Given the description of an element on the screen output the (x, y) to click on. 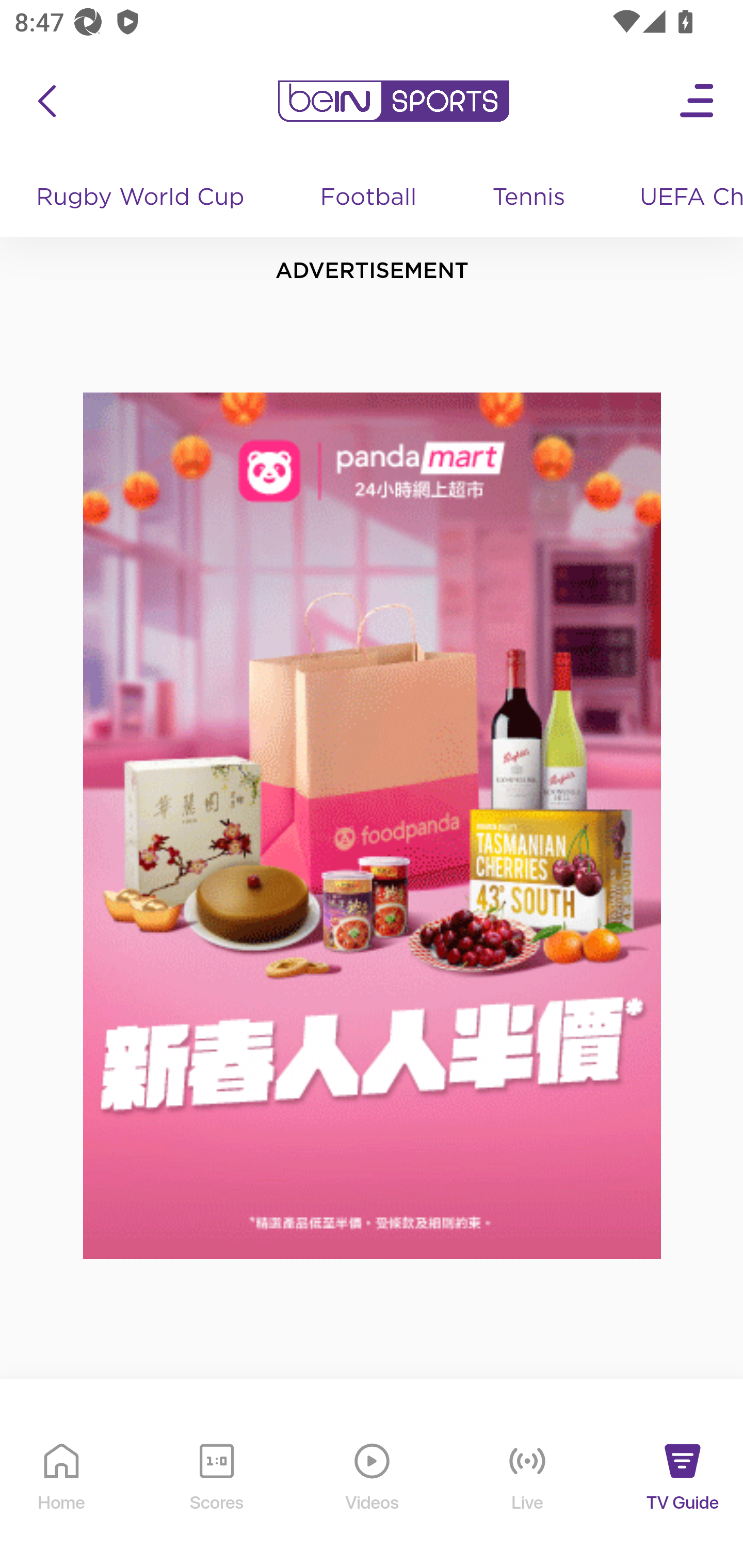
en-my?platform=mobile_android bein logo (392, 101)
icon back (46, 101)
Open Menu Icon (697, 101)
Rugby World Cup (142, 198)
Football (369, 198)
Tennis (530, 198)
Advertisement (372, 826)
Home Home Icon Home (61, 1491)
Scores Scores Icon Scores (216, 1491)
Videos Videos Icon Videos (372, 1491)
TV Guide TV Guide Icon TV Guide (682, 1491)
